Given the description of an element on the screen output the (x, y) to click on. 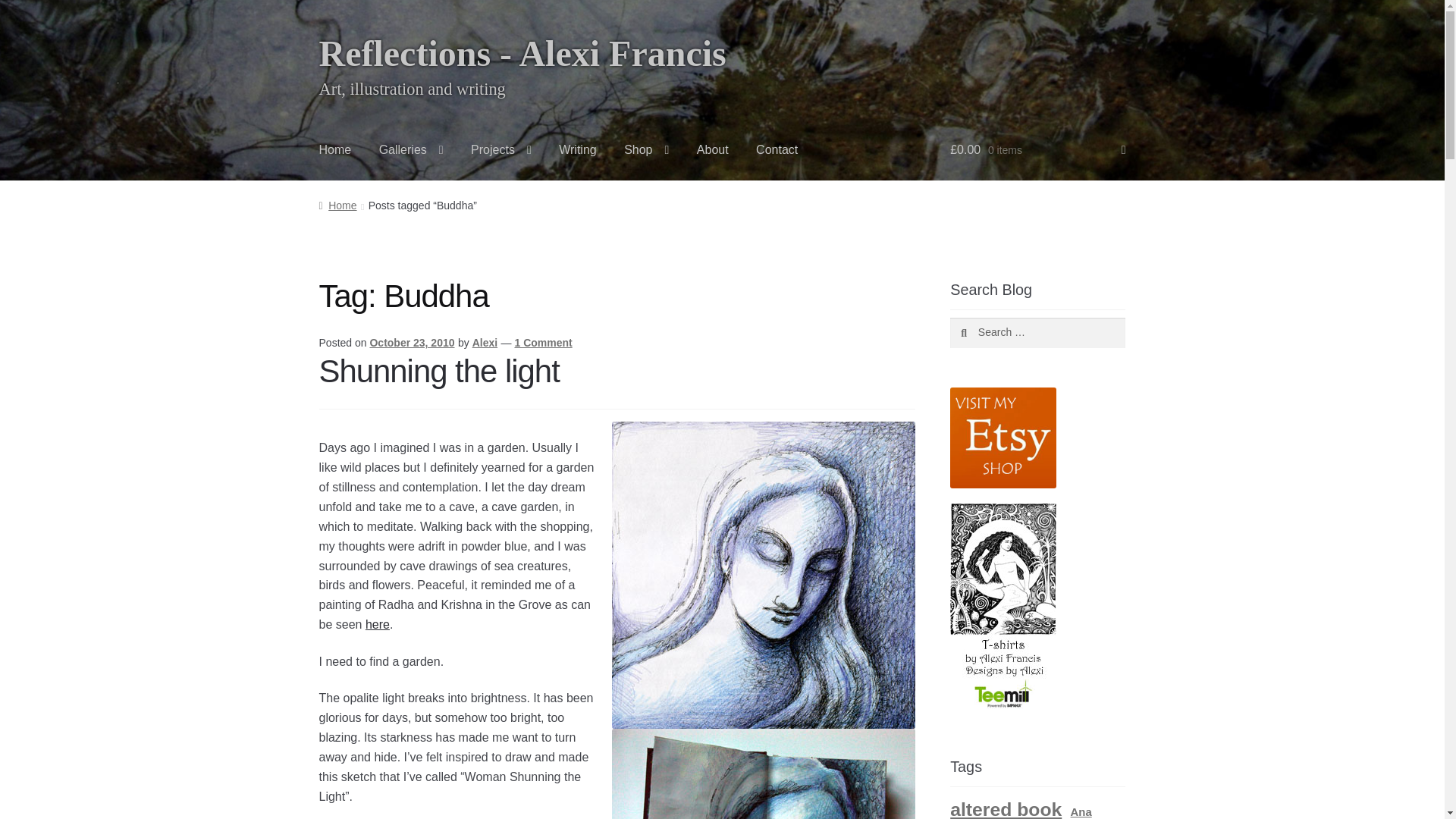
About (712, 149)
Woman Shunning the Light (763, 574)
View your shopping basket (1037, 149)
Home (335, 149)
Altered book with woman's face (763, 773)
Shop (646, 149)
Projects (500, 149)
Contact (776, 149)
Writing (577, 149)
Reflections - Alexi Francis (522, 53)
Galleries (410, 149)
